Given the description of an element on the screen output the (x, y) to click on. 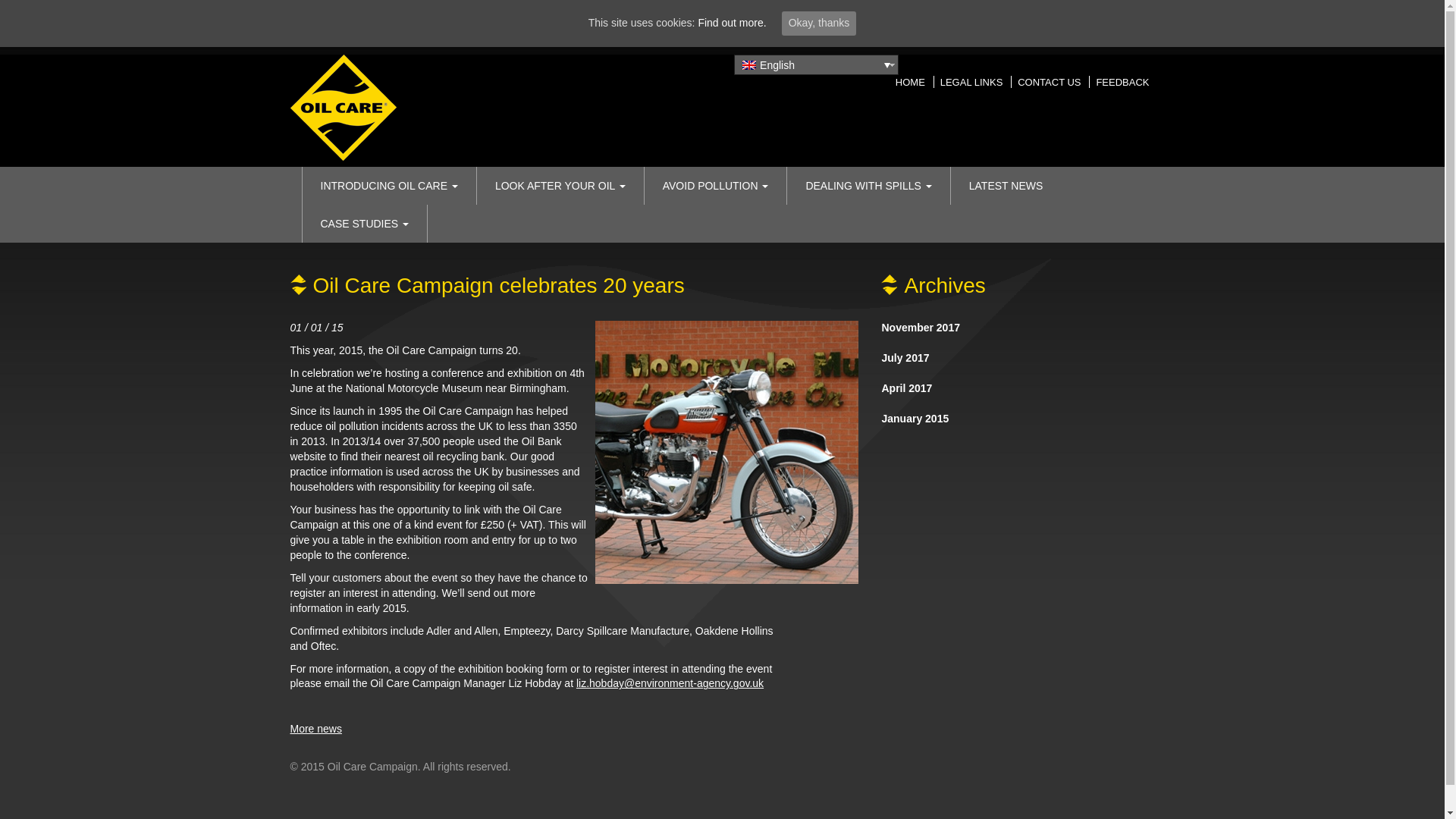
November 2017 (919, 327)
CASE STUDIES (364, 223)
DEALING WITH SPILLS (867, 185)
English (748, 64)
English (815, 64)
April 2017 (905, 387)
FEEDBACK (1122, 81)
January 2015 (914, 418)
More news (314, 728)
Find out more. (731, 22)
